Given the description of an element on the screen output the (x, y) to click on. 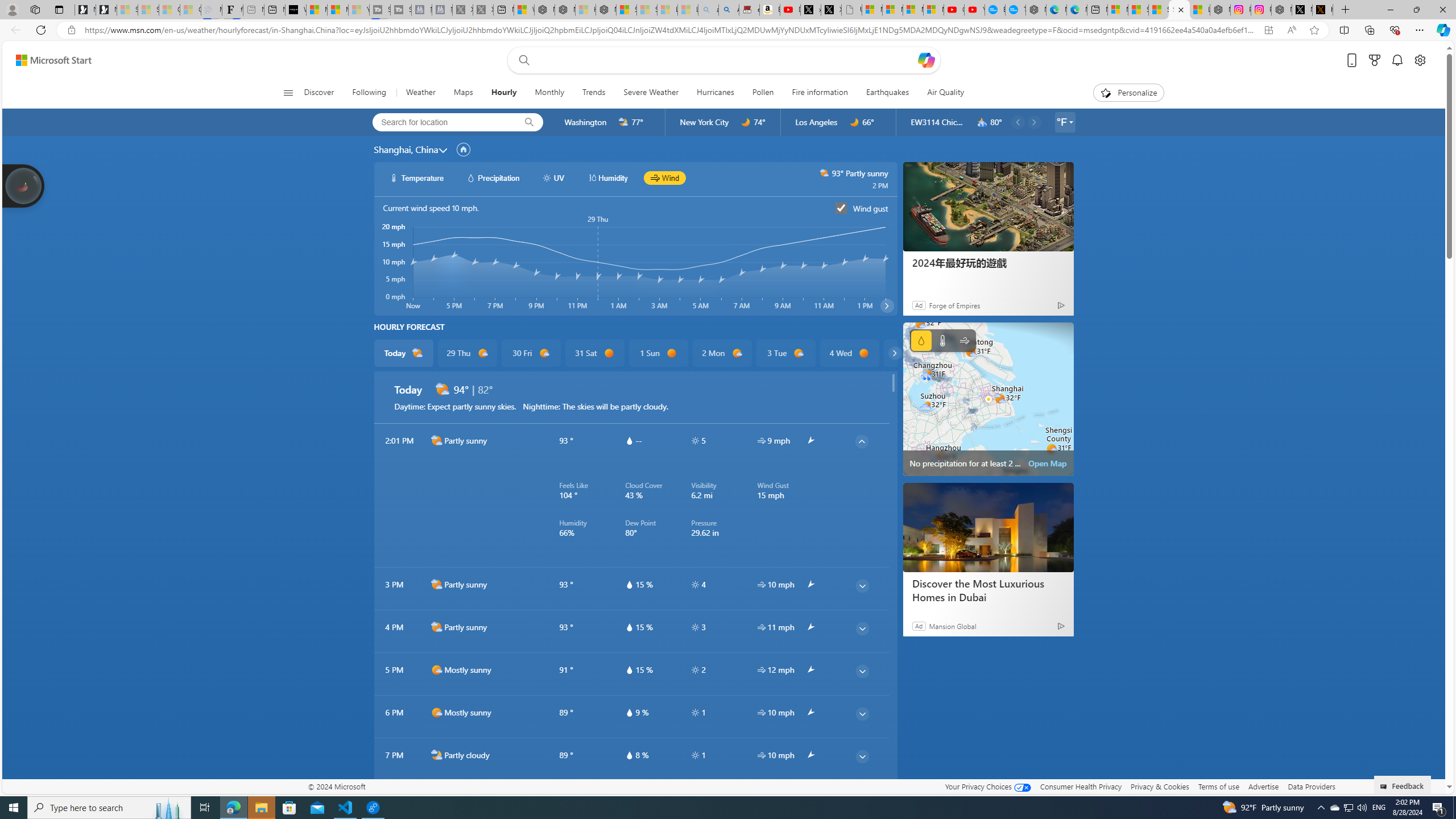
Severe Weather (651, 92)
Join us in planting real trees to help our planet! (23, 185)
Enter your search term (726, 59)
Your Privacy Choices (987, 785)
Hourly (503, 92)
Amazon Echo Dot PNG - Search Images (728, 9)
